Given the description of an element on the screen output the (x, y) to click on. 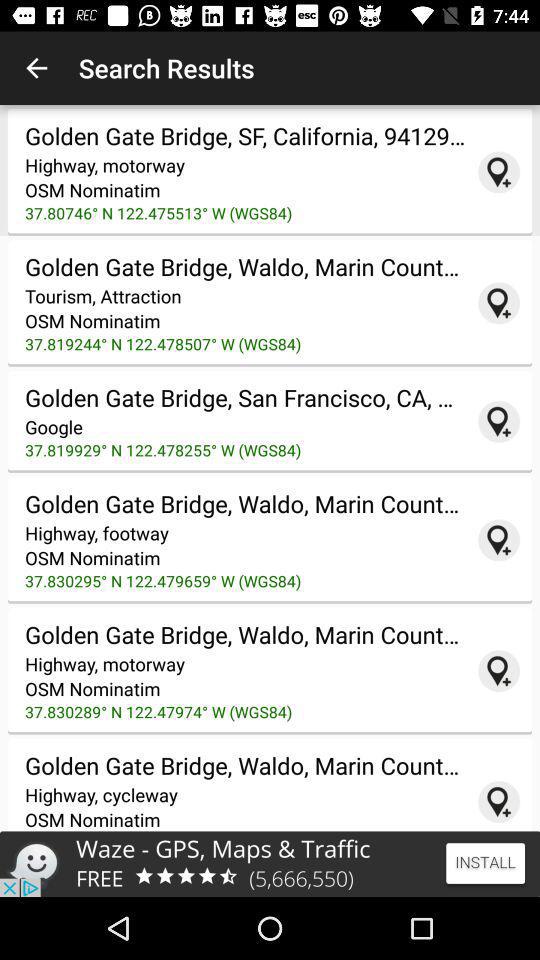
choose location (499, 802)
